Given the description of an element on the screen output the (x, y) to click on. 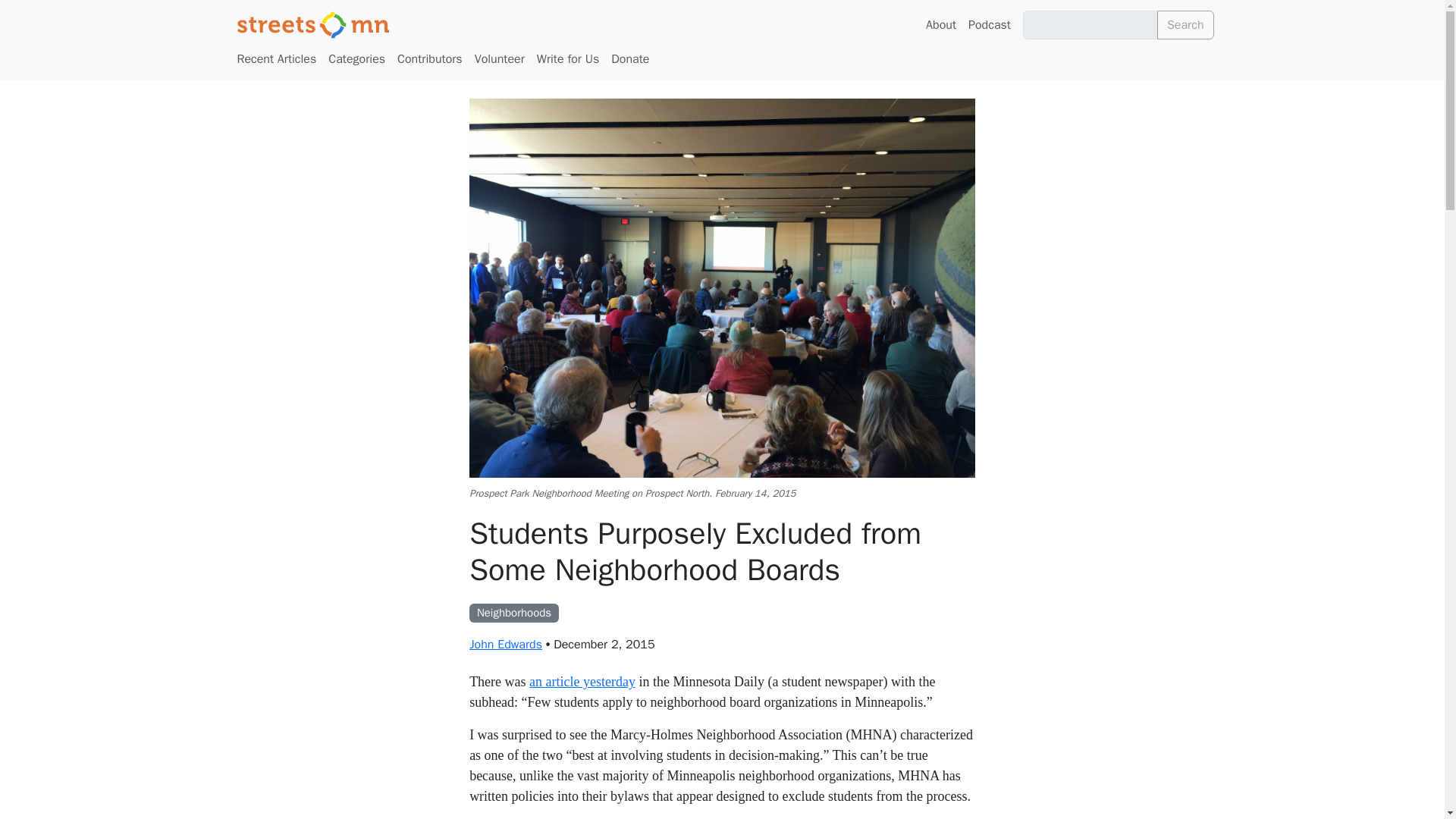
Recent Articles (275, 59)
Podcast (989, 24)
Streets.mn (311, 24)
John Edwards (504, 644)
Search (1185, 24)
Neighborhoods (513, 610)
Contributors (429, 59)
Categories (356, 59)
an article yesterday (581, 681)
Volunteer (499, 59)
About (941, 24)
Posts by John Edwards (504, 644)
Streets.mn (311, 24)
Search (1185, 24)
Search (1185, 24)
